Given the description of an element on the screen output the (x, y) to click on. 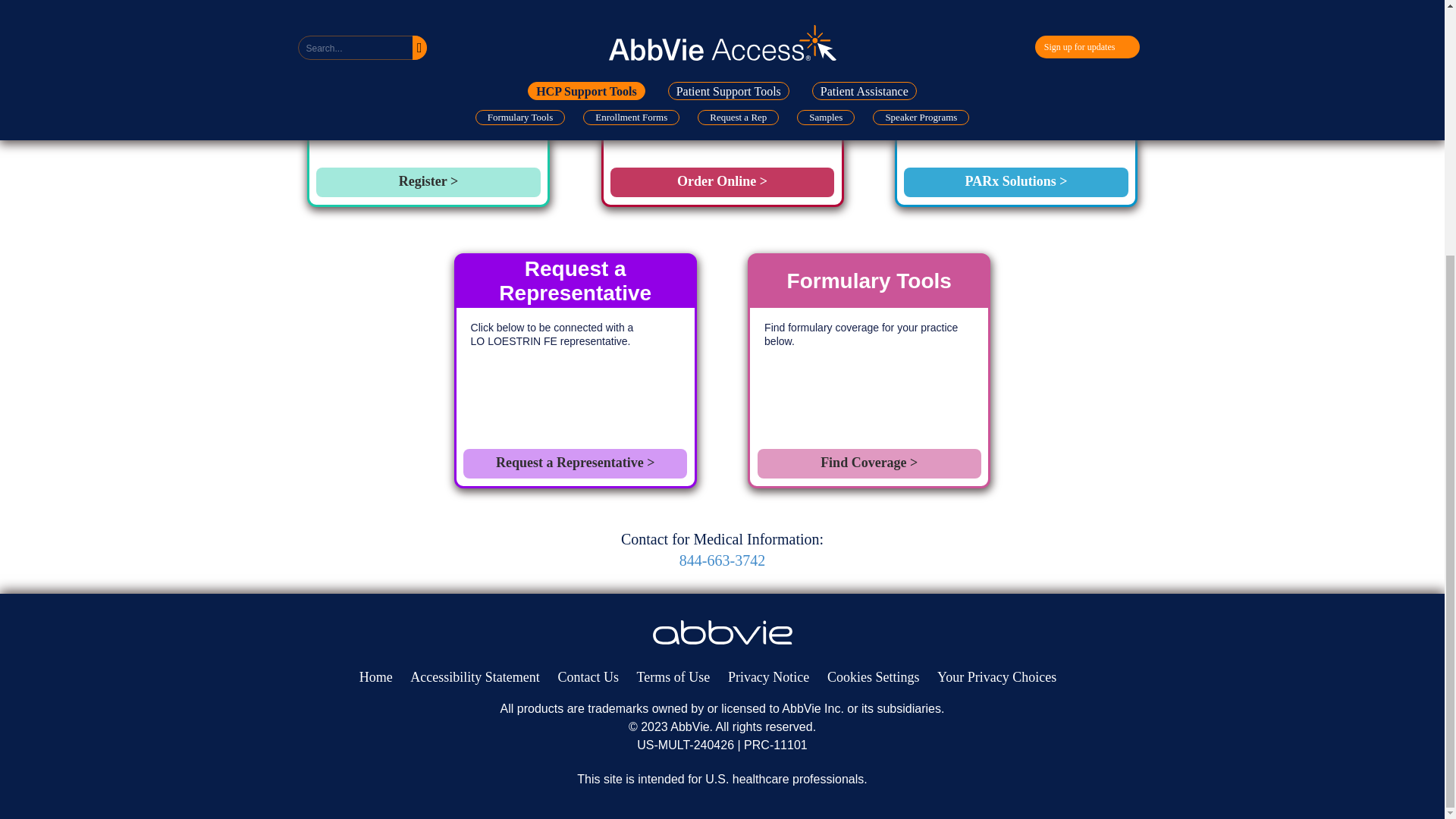
Cookies Settings (873, 676)
844-663-3742 (722, 560)
interactive-image (722, 631)
